Given the description of an element on the screen output the (x, y) to click on. 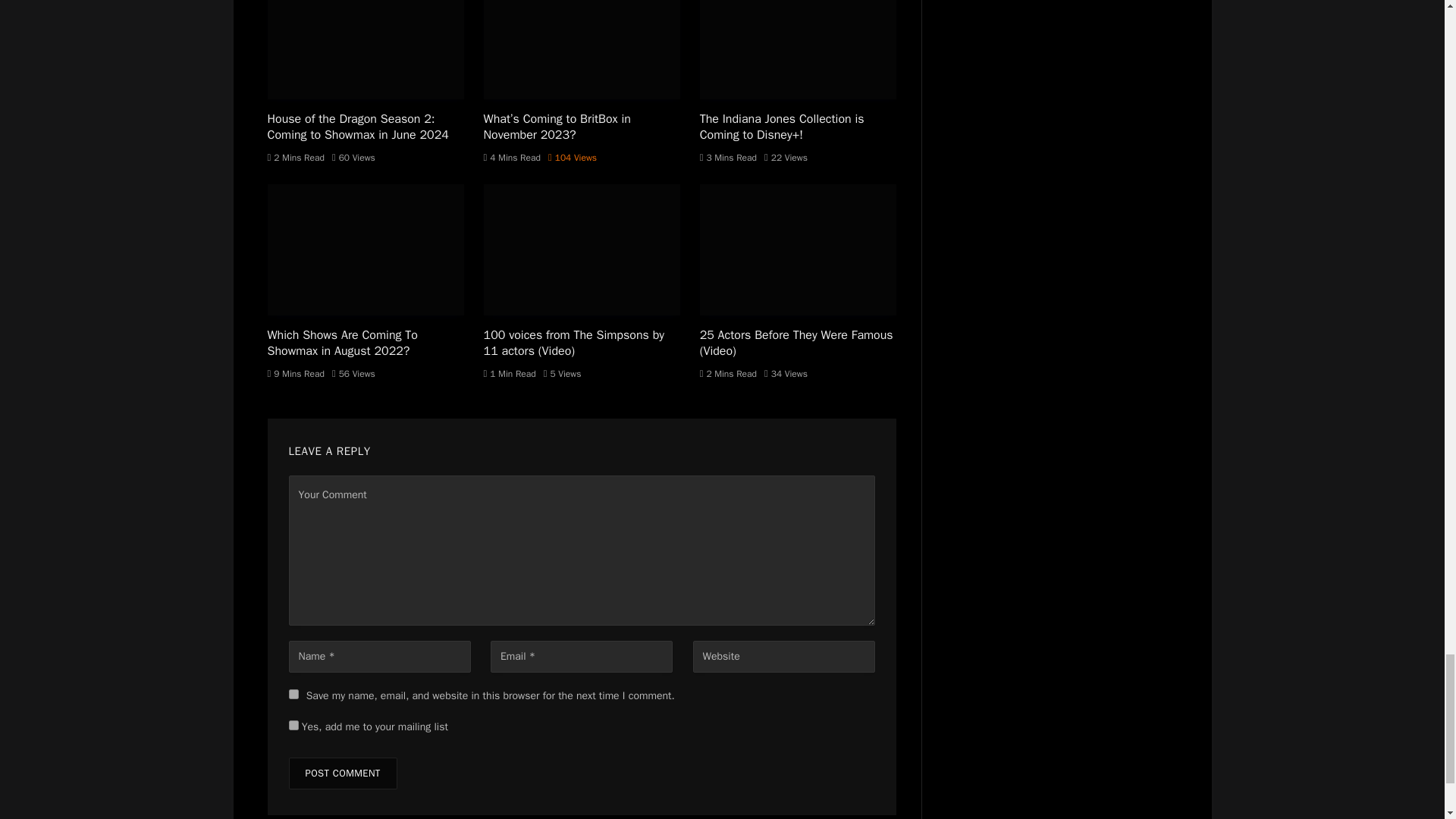
Post Comment (342, 773)
yes (293, 694)
1 (293, 725)
